Given the description of an element on the screen output the (x, y) to click on. 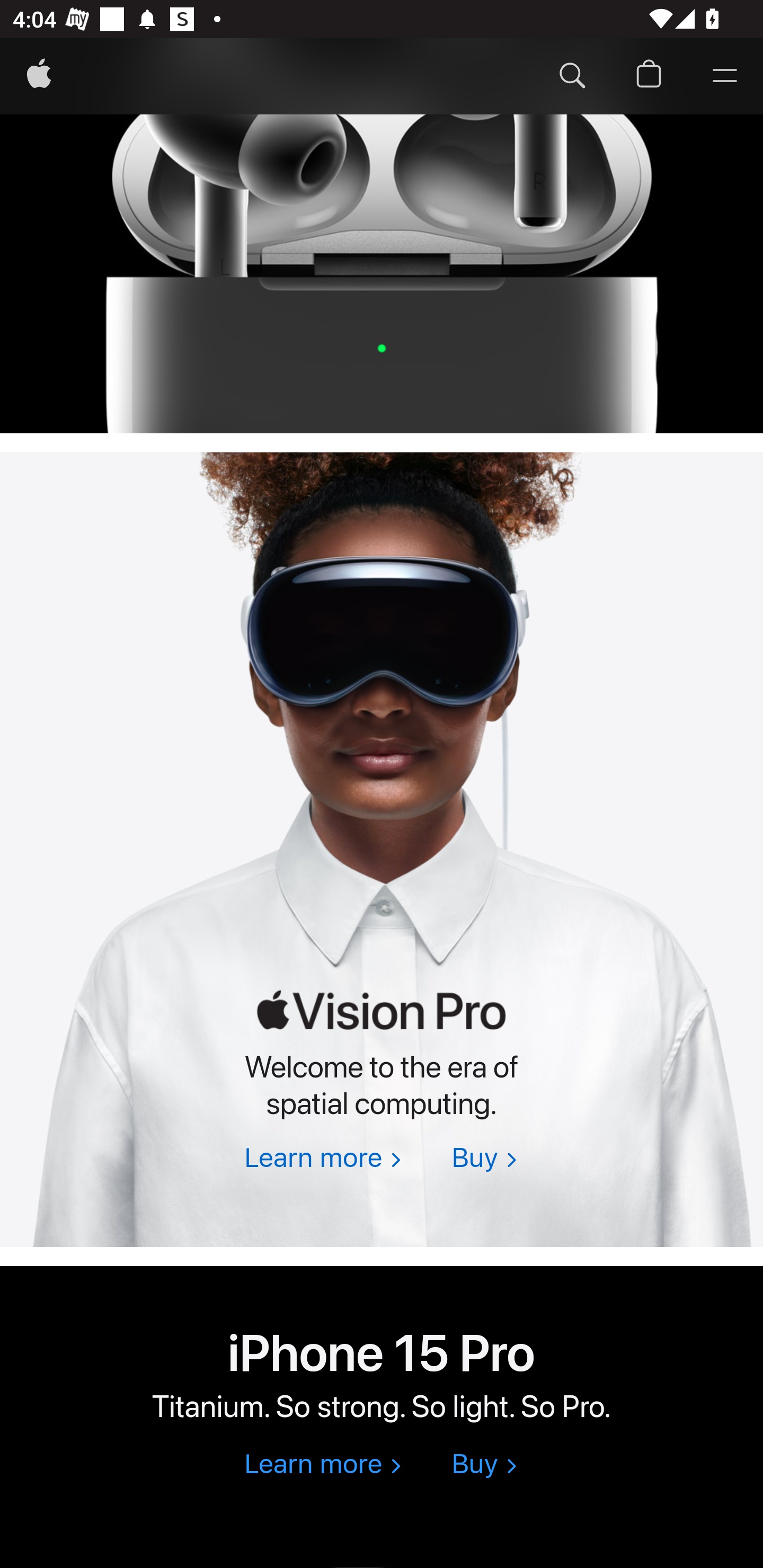
Apple (38, 76)
Search apple.com (572, 76)
Shopping Bag (648, 76)
Menu (724, 76)
Learn more about Apple Vision Pro Learn more  (322, 1159)
Buy Apple Vision Pro Buy  (484, 1159)
Learn more about iPhone 15 Pro Learn more  (322, 1465)
Buy iPhone 15 Pro Buy  (484, 1465)
